Given the description of an element on the screen output the (x, y) to click on. 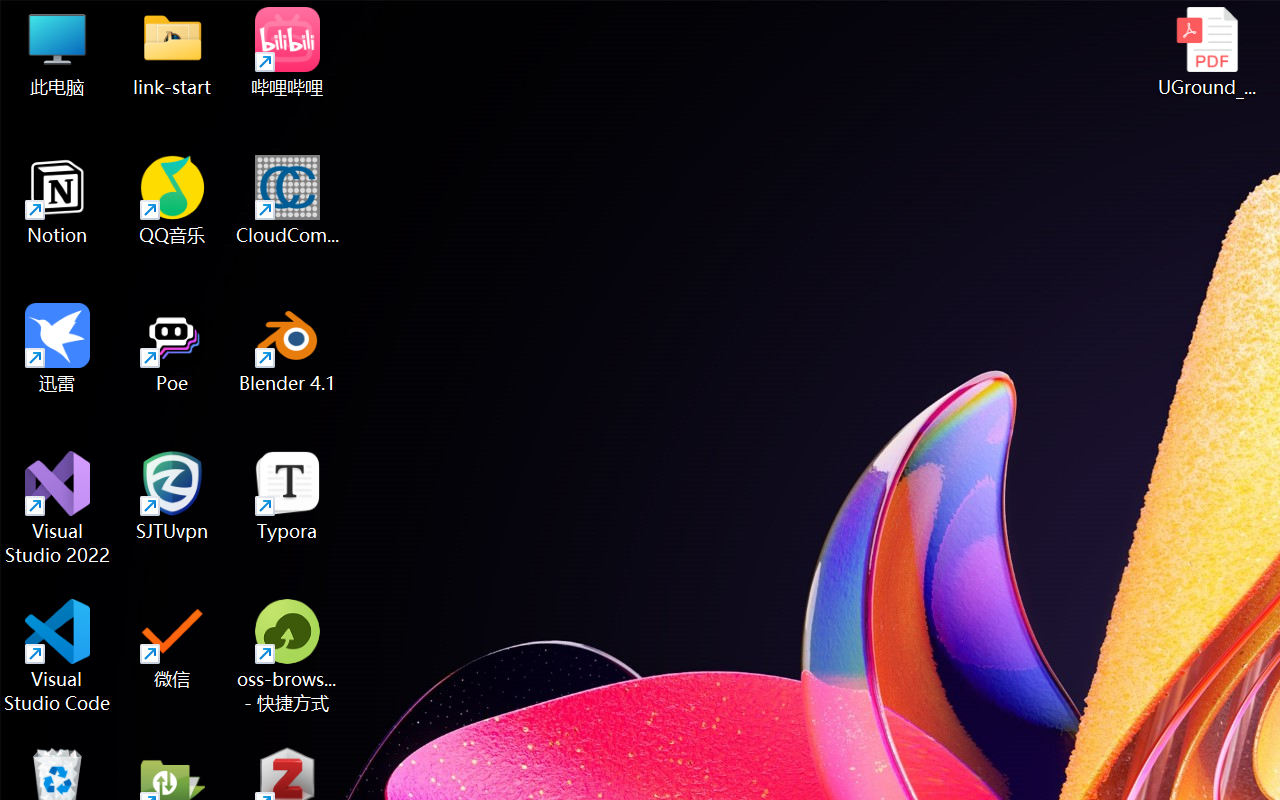
Blender 4.1 (287, 348)
CloudCompare (287, 200)
Visual Studio 2022 (57, 508)
Typora (287, 496)
SJTUvpn (172, 496)
UGround_paper.pdf (1206, 52)
Visual Studio Code (57, 656)
